Given the description of an element on the screen output the (x, y) to click on. 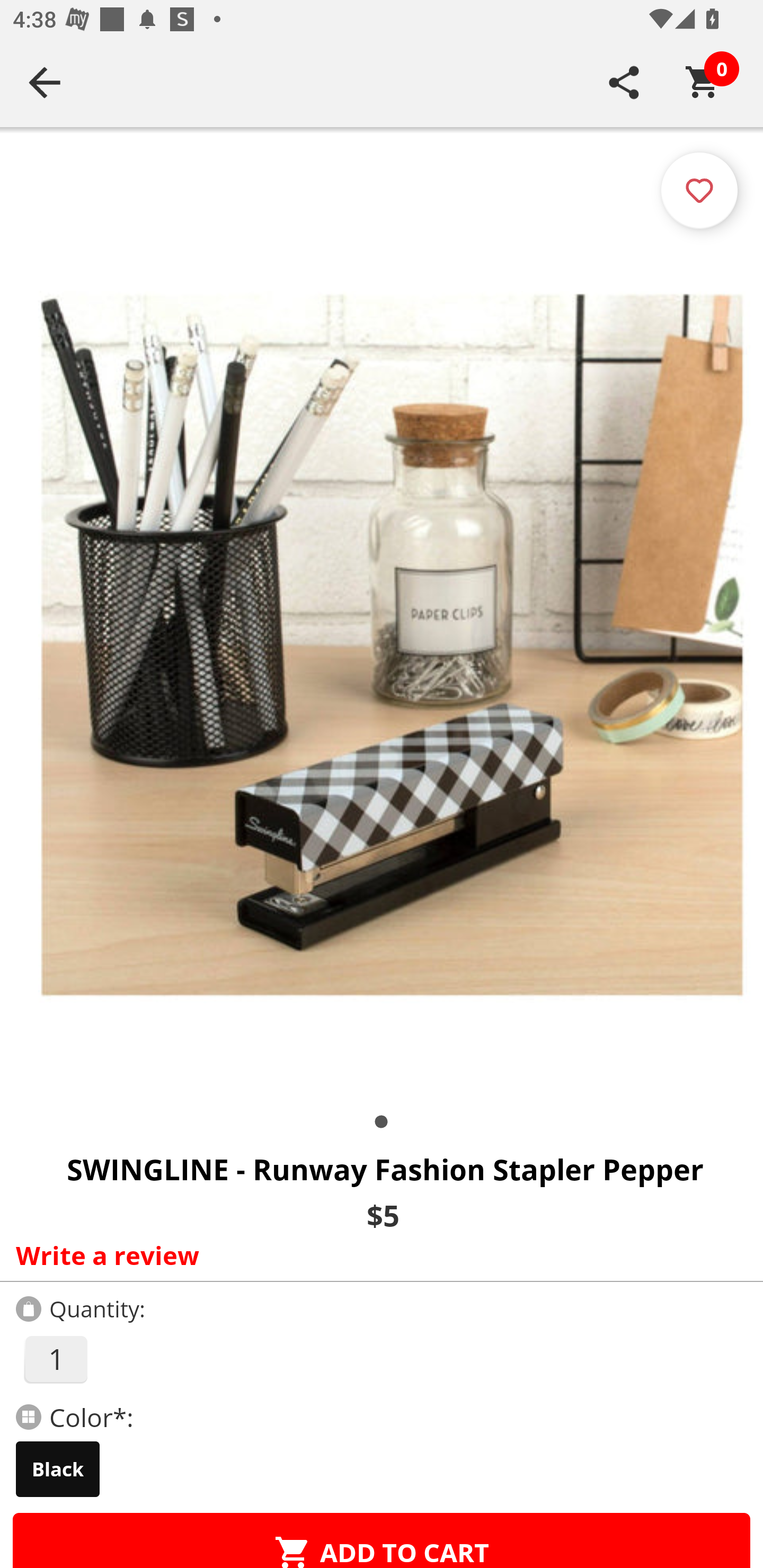
Navigate up (44, 82)
SHARE (623, 82)
Cart (703, 81)
Write a review (377, 1255)
1 (55, 1358)
Black (57, 1468)
ADD TO CART (381, 1540)
